Given the description of an element on the screen output the (x, y) to click on. 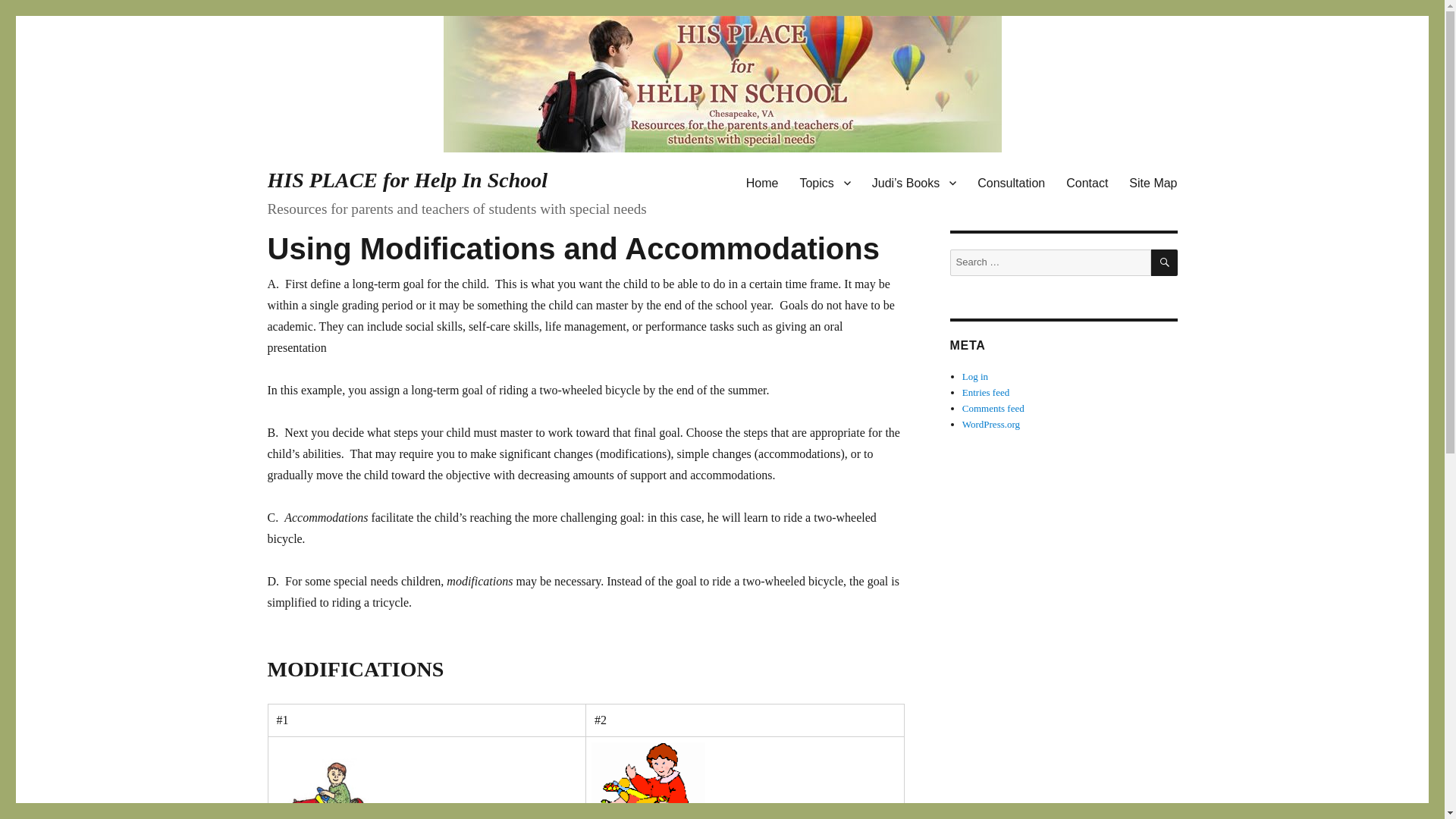
SEARCH (1164, 262)
Home (762, 183)
WordPress.org (991, 423)
Entries feed (985, 392)
Log in (975, 376)
HIS PLACE for Help In School (406, 179)
Comments feed (993, 408)
Topics (824, 183)
Contact (1086, 183)
Consultation (1010, 183)
